Given the description of an element on the screen output the (x, y) to click on. 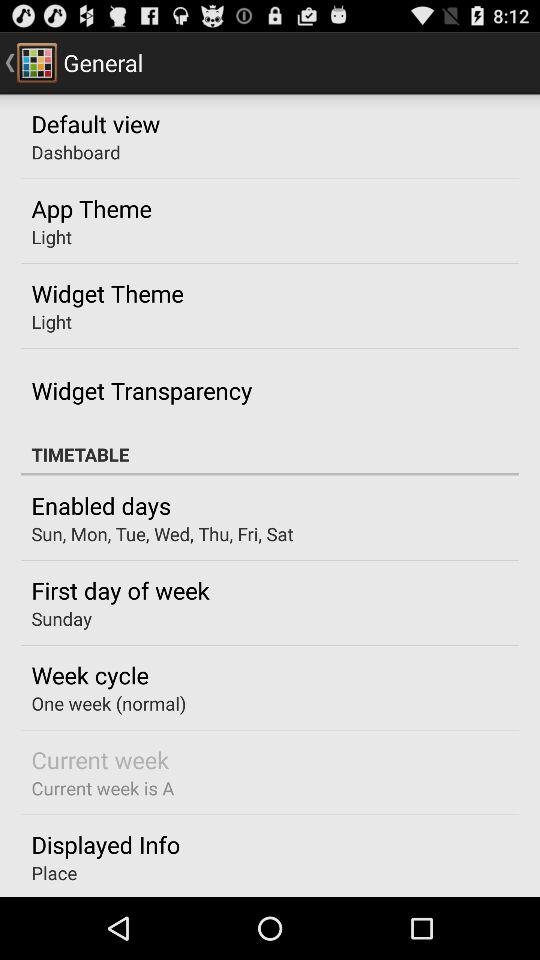
press the icon above light item (91, 208)
